Given the description of an element on the screen output the (x, y) to click on. 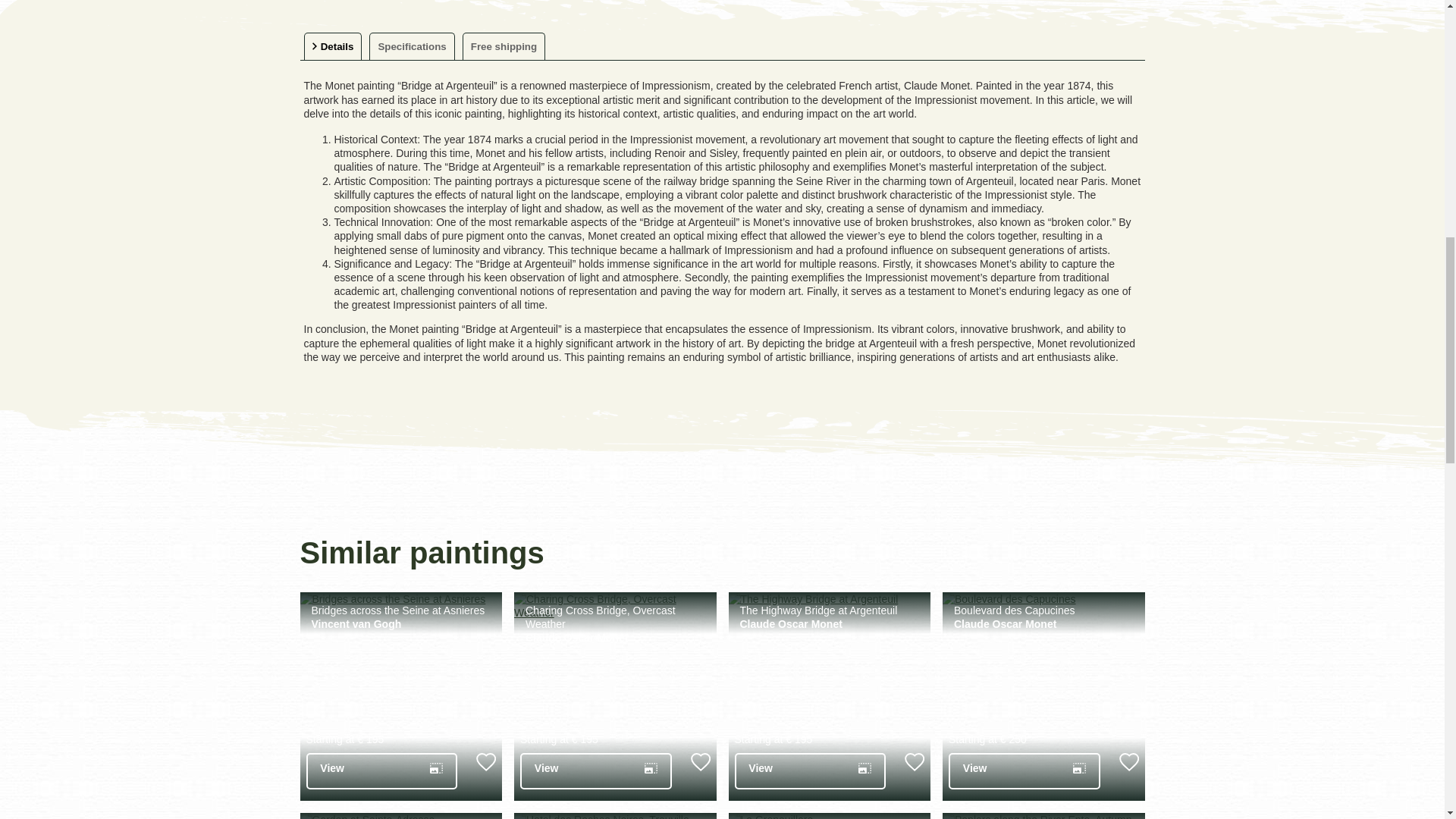
Bridges across the Seine at Asnieres (403, 610)
View (381, 770)
Add to wishlist (700, 761)
Specifications (411, 45)
Details (331, 45)
Free shipping (503, 45)
Add to wishlist (914, 761)
Vincent van Gogh (356, 623)
Add to wishlist (486, 761)
Add to wishlist (1128, 761)
